Given the description of an element on the screen output the (x, y) to click on. 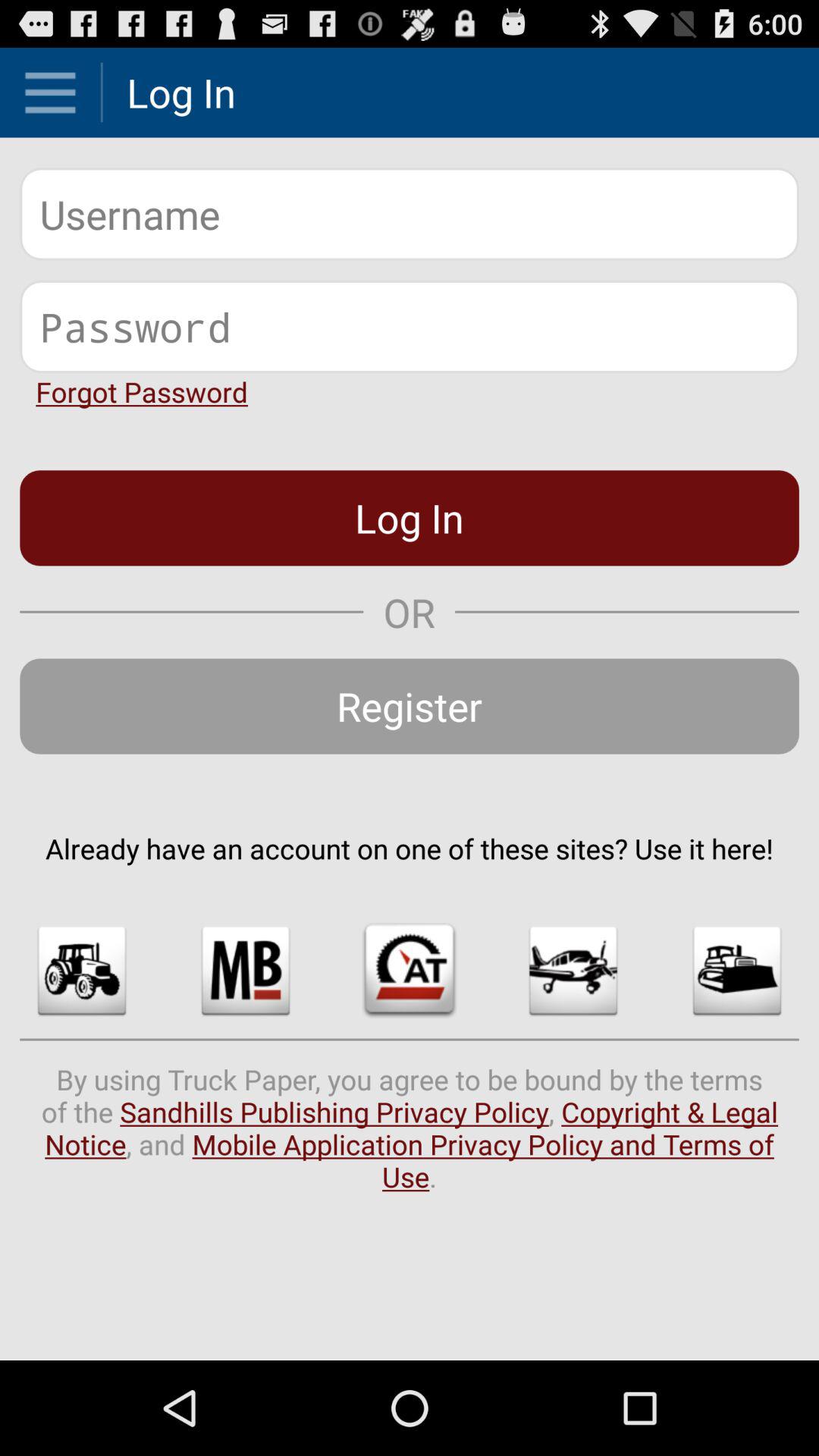
choose the item above log in (141, 391)
